Given the description of an element on the screen output the (x, y) to click on. 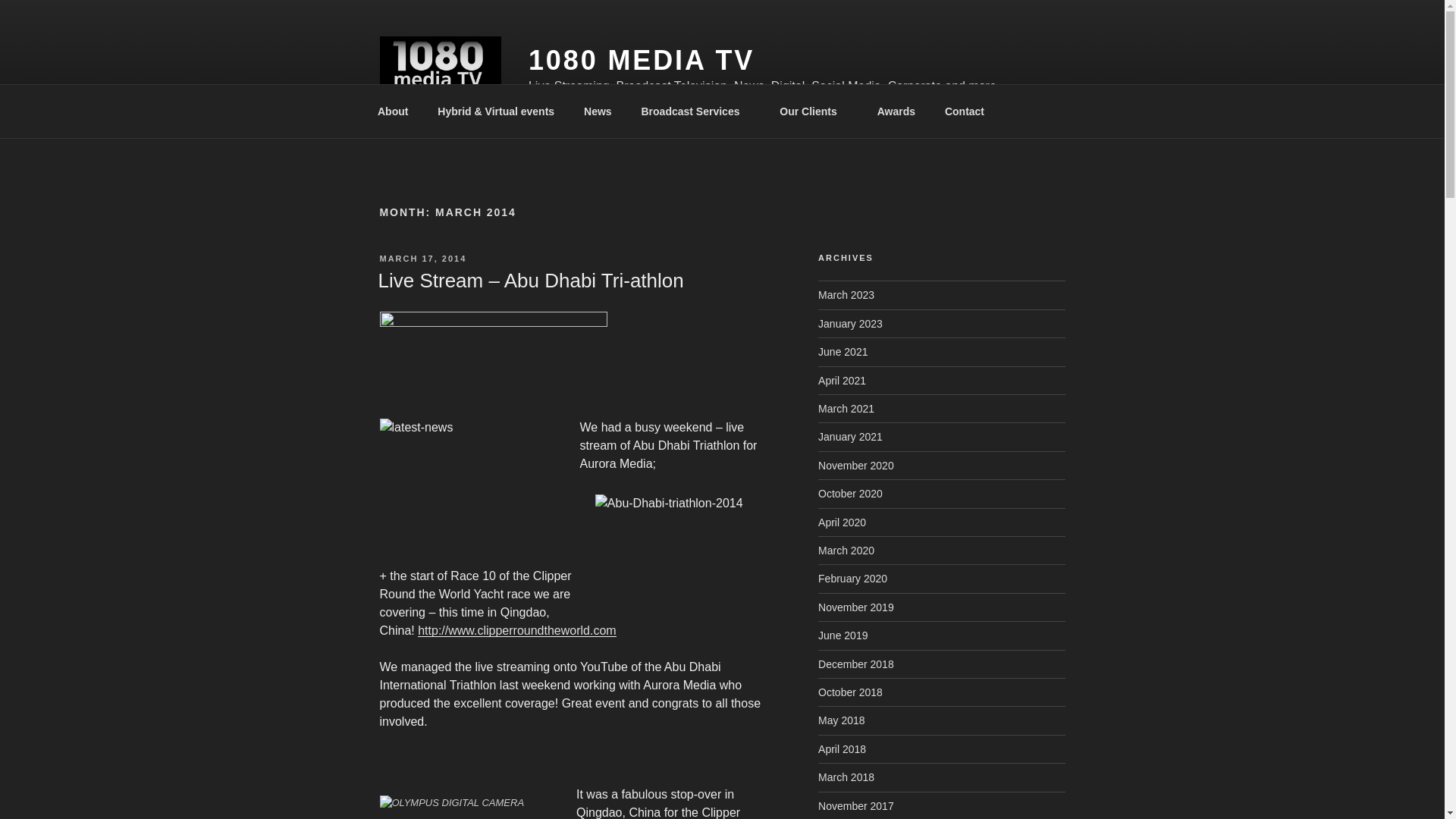
Contact (969, 110)
1080 MEDIA TV (641, 60)
June 2021 (842, 351)
January 2023 (850, 323)
Our Clients (813, 110)
MARCH 17, 2014 (421, 257)
About (392, 110)
March 2023 (846, 295)
News (598, 110)
